Given the description of an element on the screen output the (x, y) to click on. 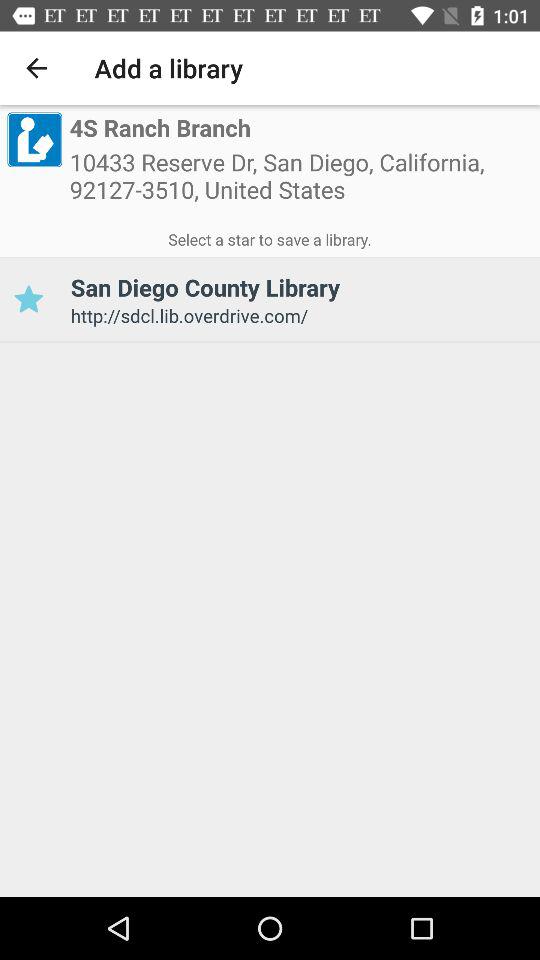
flip until 10433 reserve dr icon (301, 182)
